Given the description of an element on the screen output the (x, y) to click on. 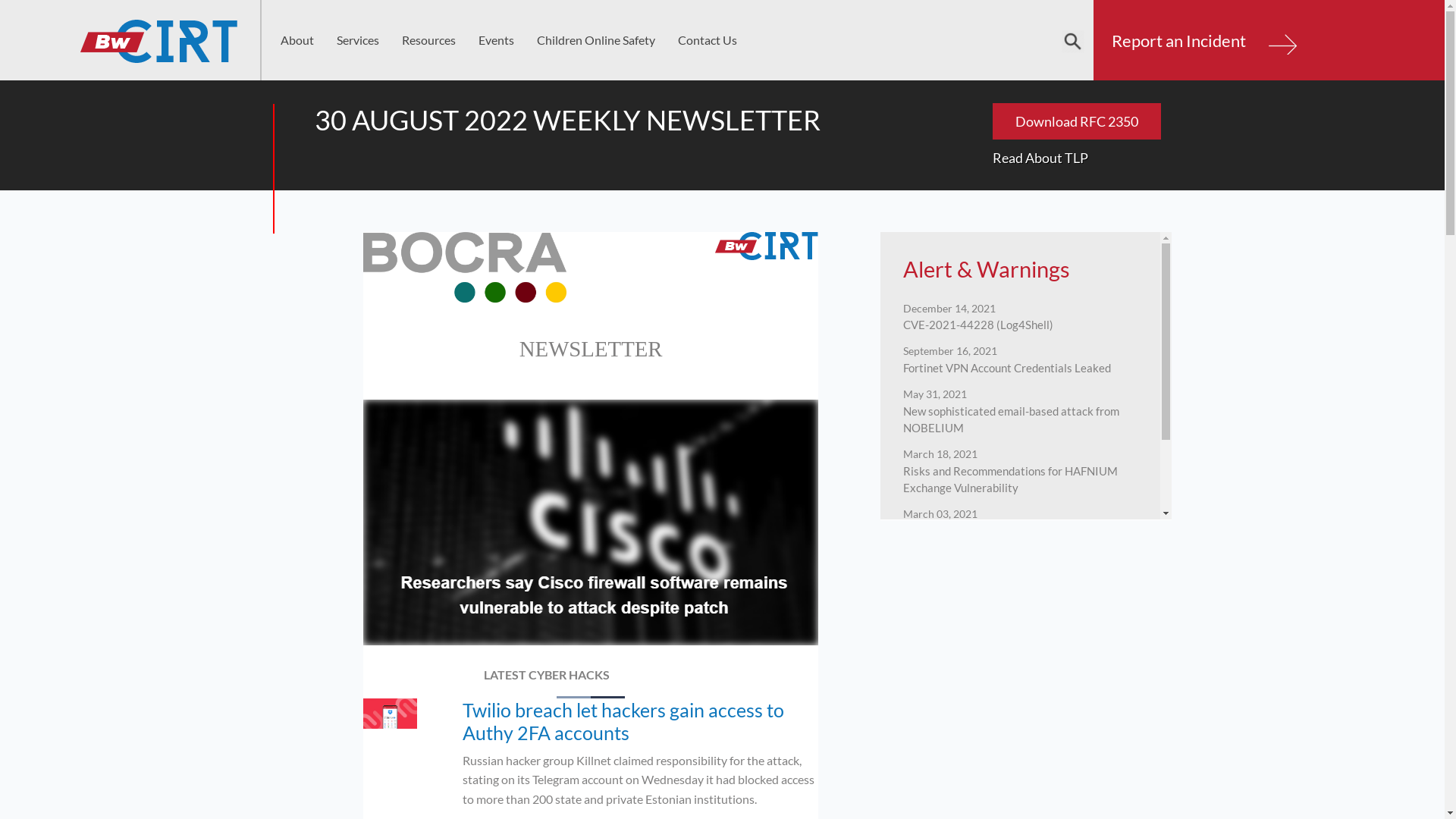
Fortinet VPN Account Credentials Leaked Element type: text (1006, 364)
Services Element type: text (357, 40)
BOCRA website Element type: hover (464, 267)
Download RFC 2350 Element type: text (1075, 121)
Risks and Recommendations for HAFNIUM Exchange Vulnerability Element type: text (1010, 476)
High severity security flaws in Google Chrome Element type: text (1018, 586)
New sophisticated email-based attack from NOBELIUM Element type: text (1011, 416)
Resources Element type: text (428, 40)
About Element type: text (297, 40)
Twilio breach let hackers gain access to Authy 2FA accounts Element type: text (623, 720)
Read About TLP Element type: text (1075, 157)
Search Element type: text (366, 148)
HAFNIUM targeting Exchange Servers with 0-day exploits Element type: text (1018, 535)
Contact Us Element type: text (707, 40)
Events Element type: text (496, 40)
CVE-2021-44228 (Log4Shell) Element type: text (978, 321)
icon Element type: hover (390, 713)
Skip to main content Element type: text (0, 0)
